Given the description of an element on the screen output the (x, y) to click on. 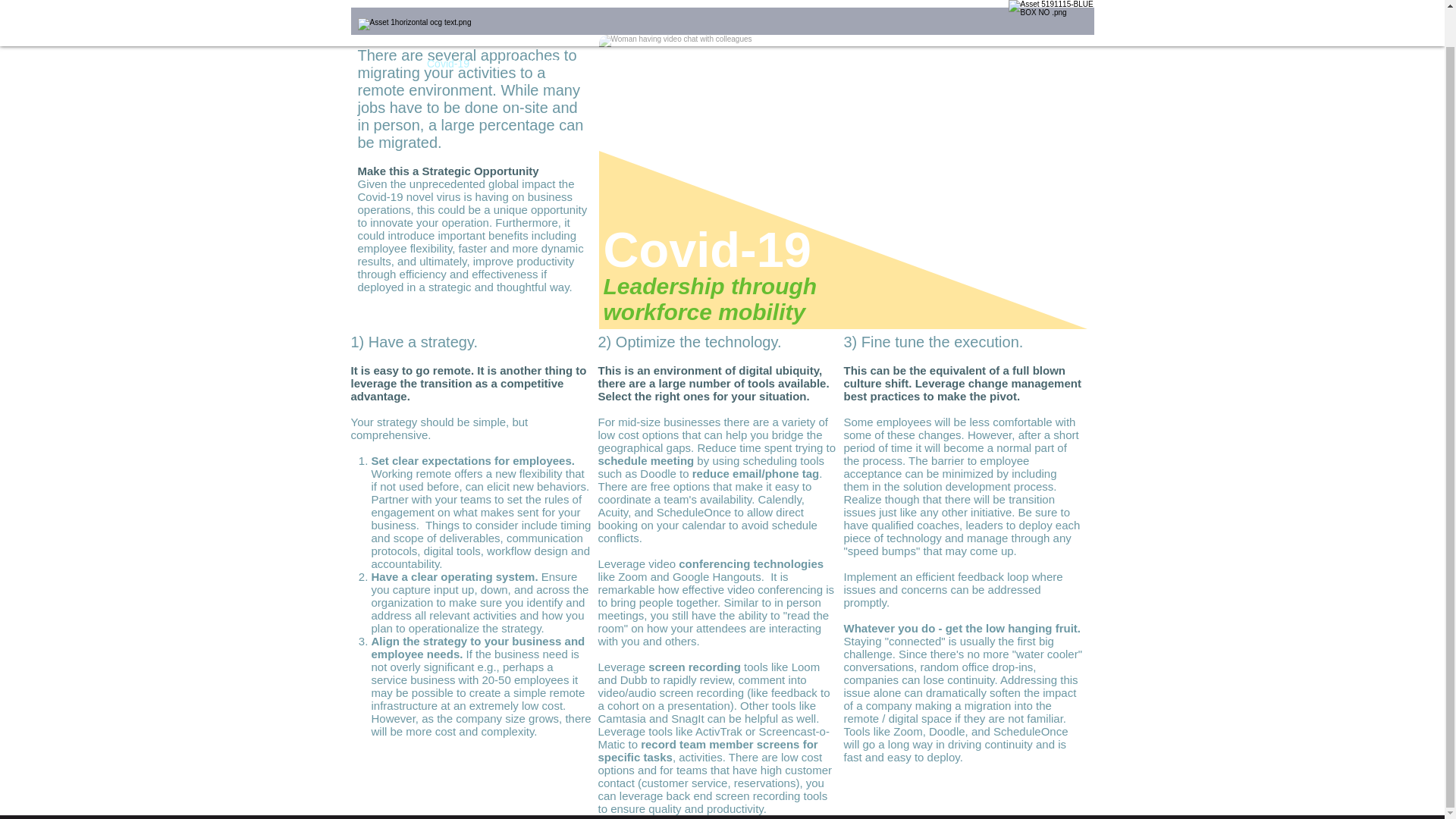
HOME (386, 31)
Covid-19 (447, 31)
APPROACH (620, 31)
CAREERS (885, 31)
VERTICALS (702, 31)
CAPABILITIES (529, 31)
CASE STUDIES (795, 31)
